Given the description of an element on the screen output the (x, y) to click on. 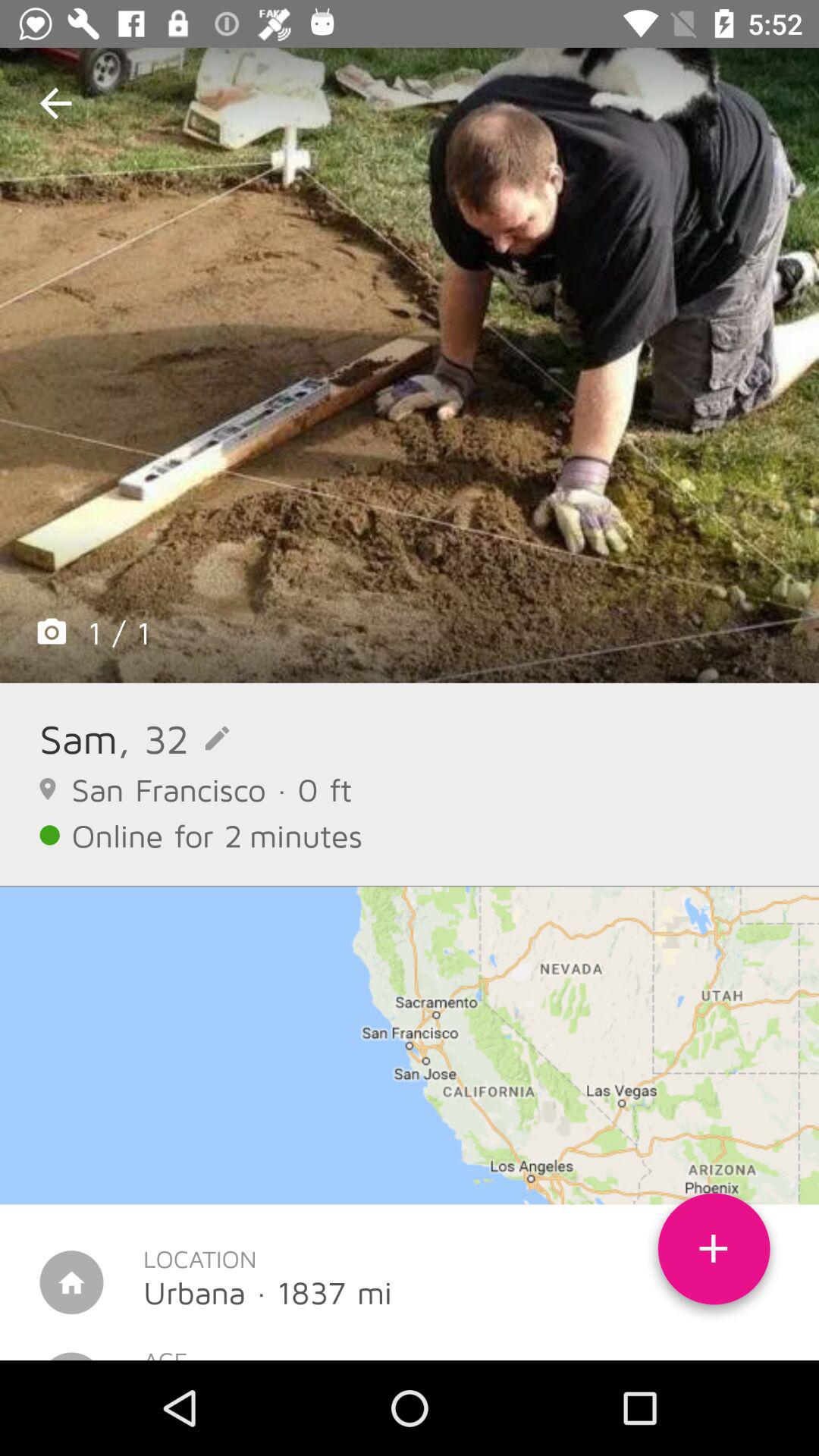
jump until the sam item (78, 738)
